Given the description of an element on the screen output the (x, y) to click on. 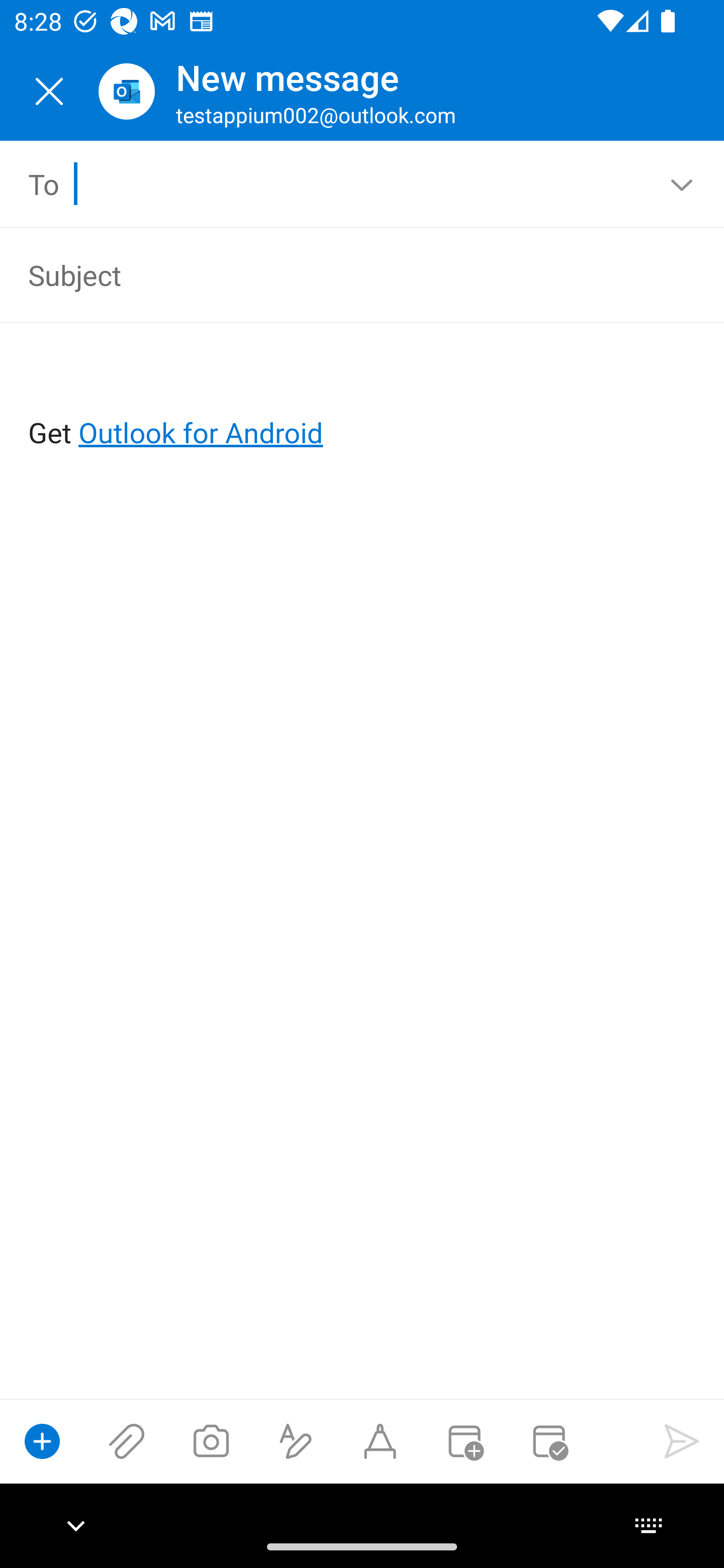
Close (49, 91)
Subject (333, 274)
Show compose options (42, 1440)
Attach files (126, 1440)
Take a photo (210, 1440)
Show formatting options (295, 1440)
Start Ink compose (380, 1440)
Convert to event (464, 1440)
Send availability (548, 1440)
Send (681, 1440)
